Given the description of an element on the screen output the (x, y) to click on. 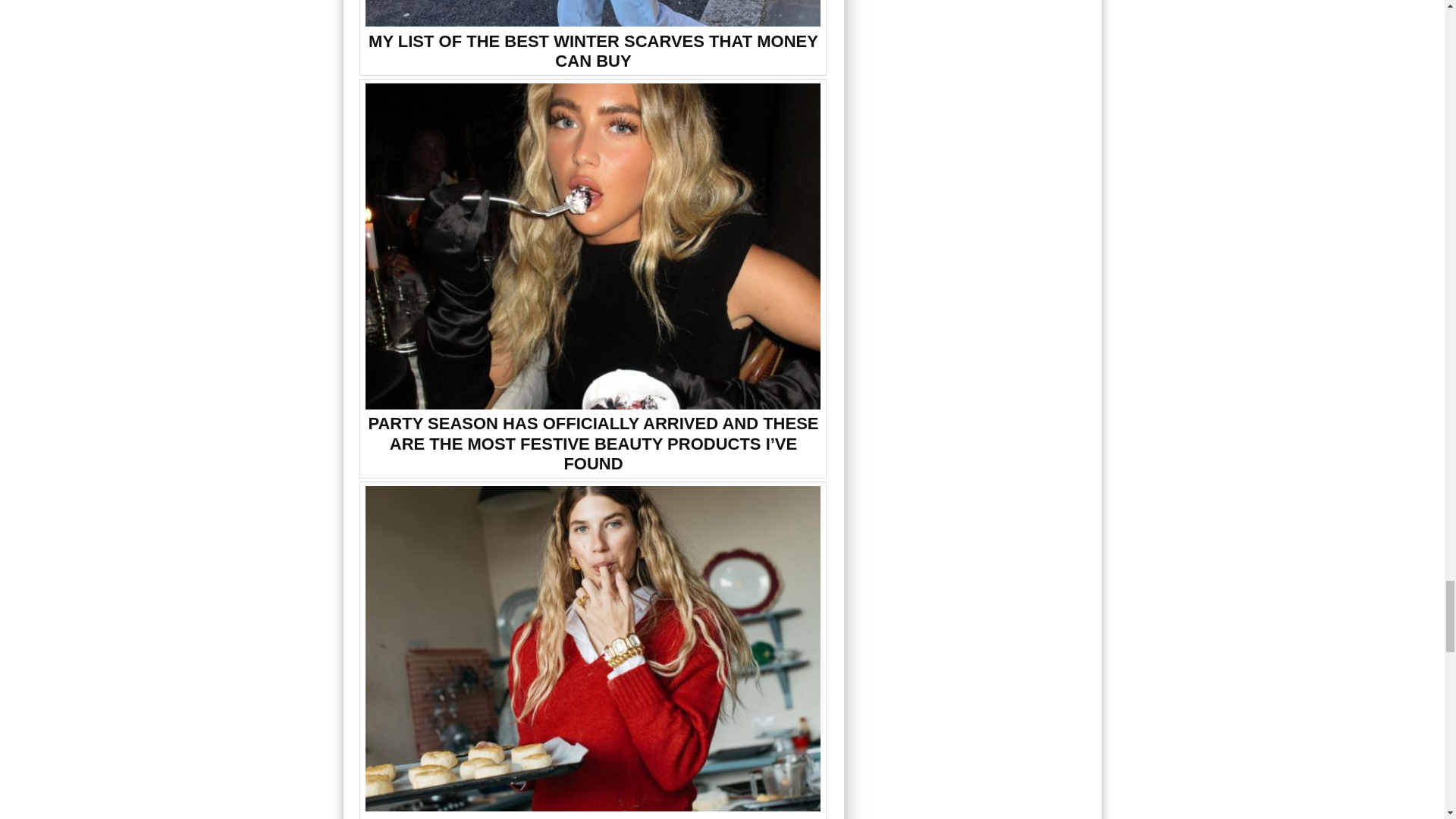
My list of the best winter scarves that money can buy (593, 13)
